Given the description of an element on the screen output the (x, y) to click on. 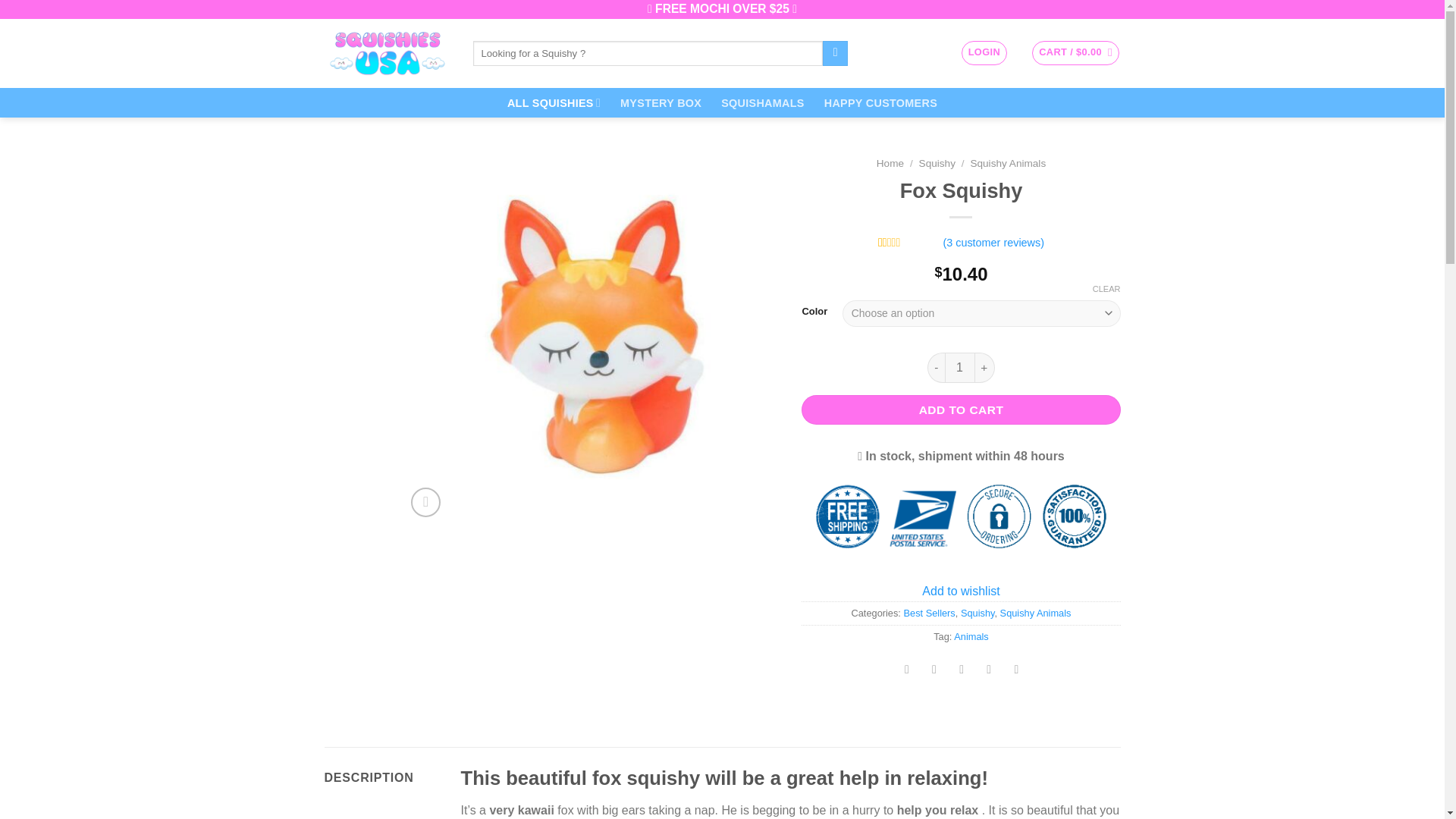
Email to a Friend (961, 671)
Share on Facebook (907, 671)
Share on LinkedIn (1016, 671)
Squishies USA (386, 52)
MYSTERY BOX (660, 103)
SQUISHAMALS (762, 103)
Share on Twitter (934, 671)
Cart (1075, 52)
ALL SQUISHIES (552, 102)
LOGIN (983, 52)
Pin on Pinterest (988, 671)
Search (834, 53)
Zoom (425, 501)
1 (959, 367)
Login (983, 52)
